Given the description of an element on the screen output the (x, y) to click on. 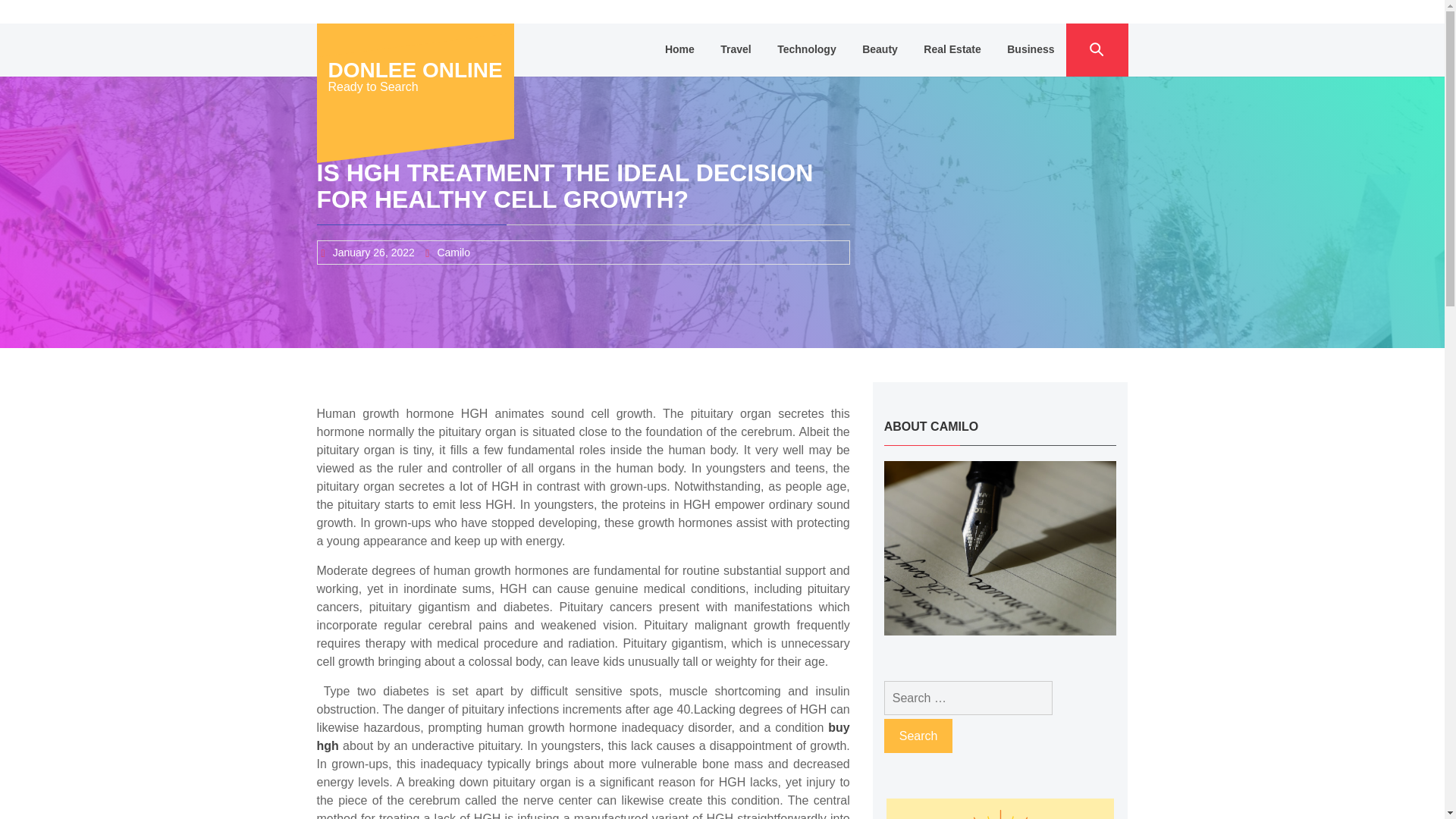
DONLEE ONLINE (414, 69)
Technology (806, 49)
Search (918, 735)
buy hgh (583, 736)
Travel (735, 49)
Camilo (453, 252)
Search (918, 735)
Search (918, 735)
January 26, 2022 (373, 252)
Business (1030, 49)
Beauty (879, 49)
Real Estate (951, 49)
Home (679, 49)
